Given the description of an element on the screen output the (x, y) to click on. 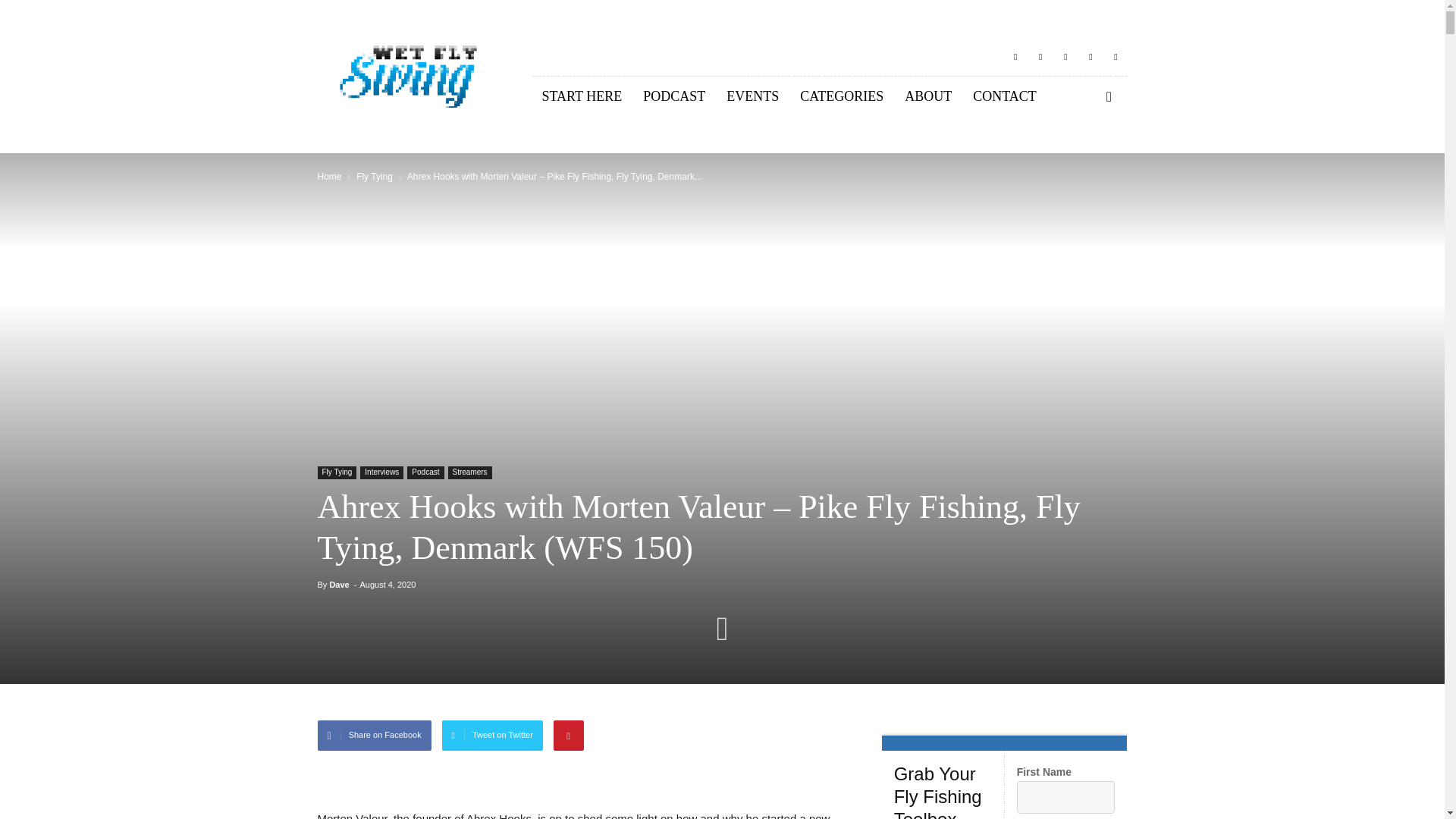
Your Online Fly-fishing Guide (411, 76)
Facebook (1015, 55)
Instagram (1040, 55)
View all posts in Fly Tying (374, 176)
Youtube (1114, 55)
Twitter (1090, 55)
Pinterest (1065, 55)
